Given the description of an element on the screen output the (x, y) to click on. 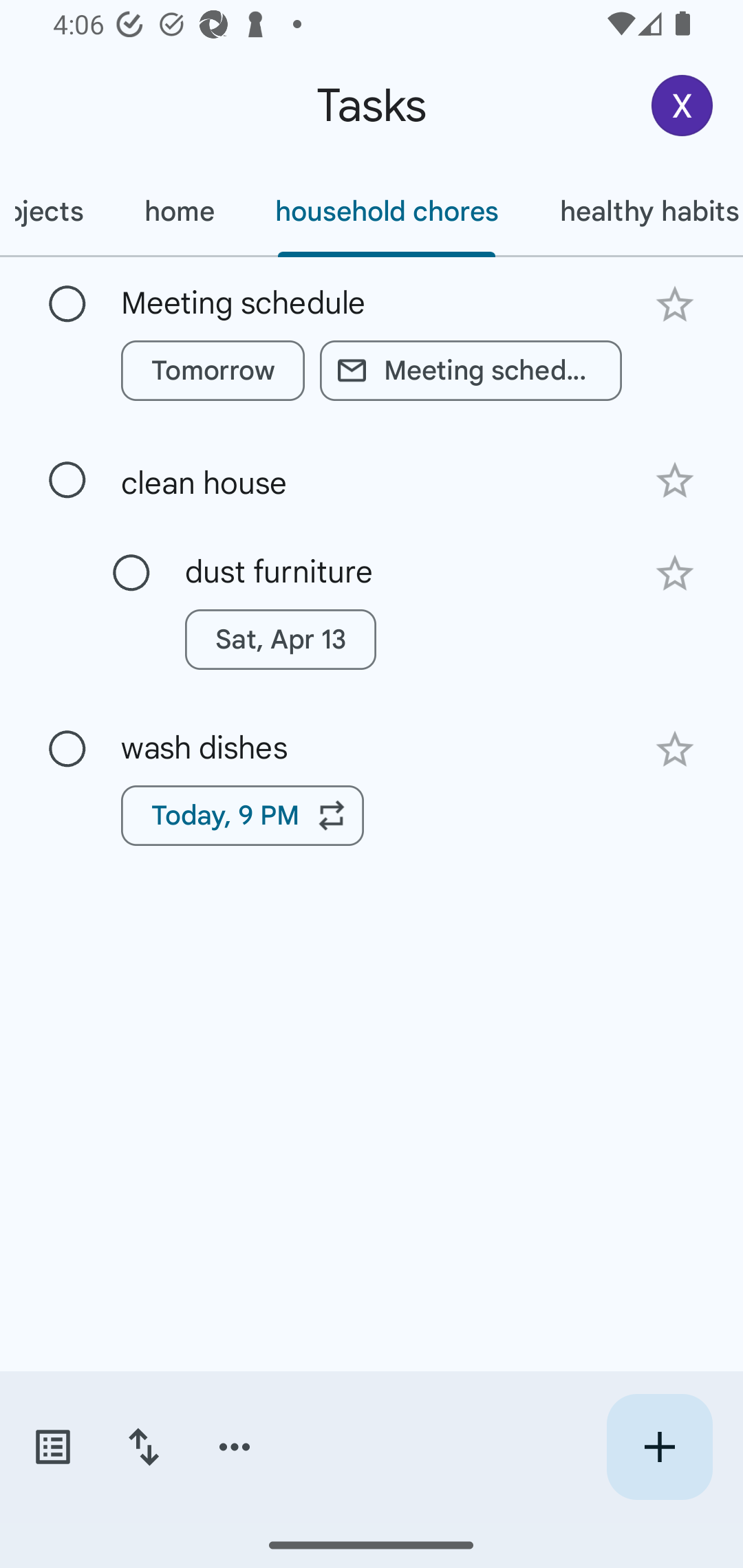
projects (56, 211)
home (178, 211)
healthy habits (636, 211)
Add star (674, 303)
Mark as complete (67, 304)
Tomorrow (212, 369)
Meeting schedule Related link (470, 369)
Add star (674, 480)
Mark as complete (67, 480)
Add star (674, 573)
Mark as complete (131, 572)
Sat, Apr 13 (280, 639)
Add star (674, 749)
Mark as complete (67, 750)
Today, 9 PM (242, 814)
Switch task lists (52, 1447)
Create new task (659, 1446)
Change sort order (143, 1446)
More options (234, 1446)
